Given the description of an element on the screen output the (x, y) to click on. 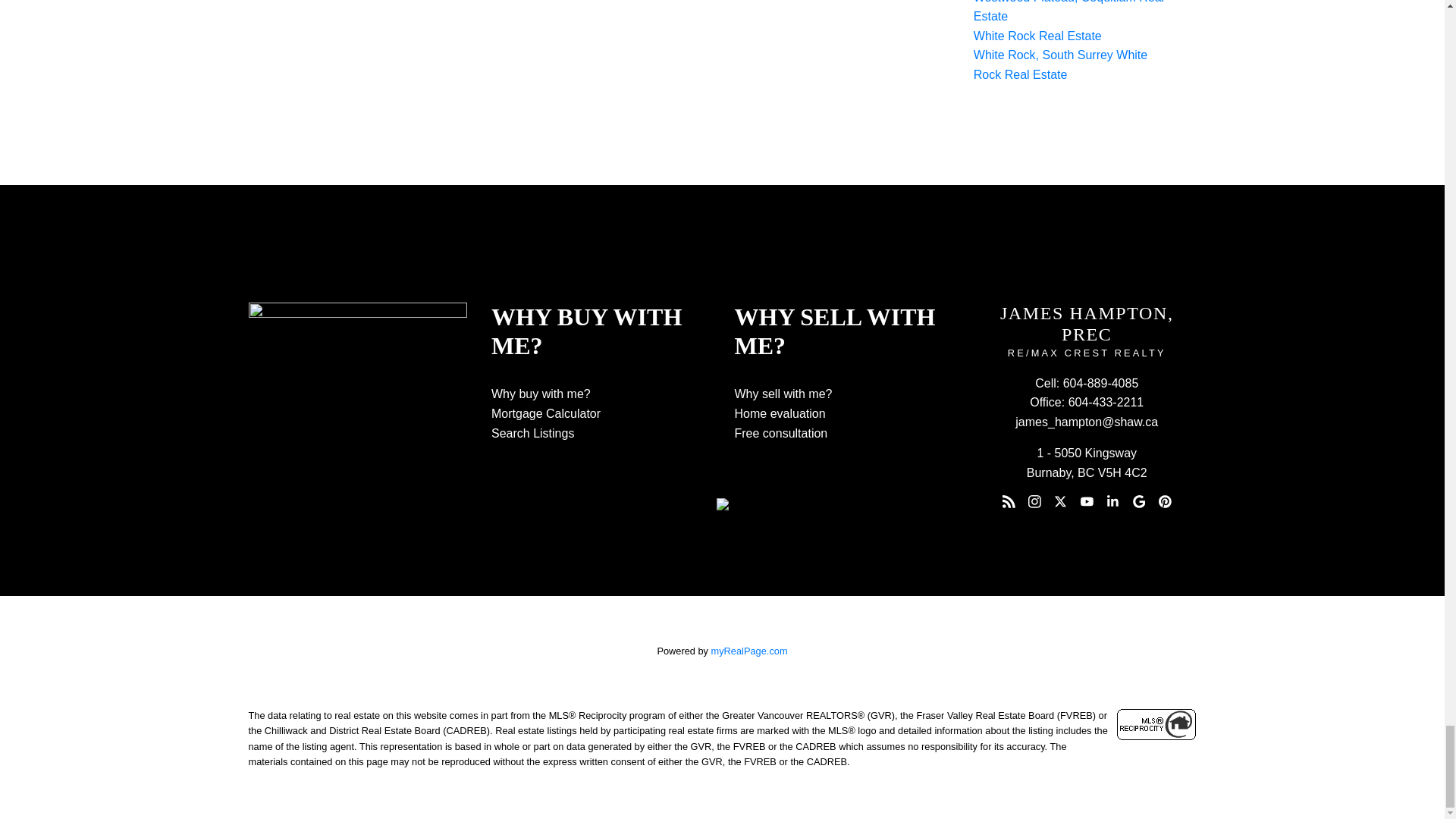
Instagram (1034, 501)
Google Business (1139, 501)
X (1060, 501)
Blog (1008, 501)
YouTube (1086, 501)
LinkedIn (1113, 501)
Pinterest (1164, 501)
